Given the description of an element on the screen output the (x, y) to click on. 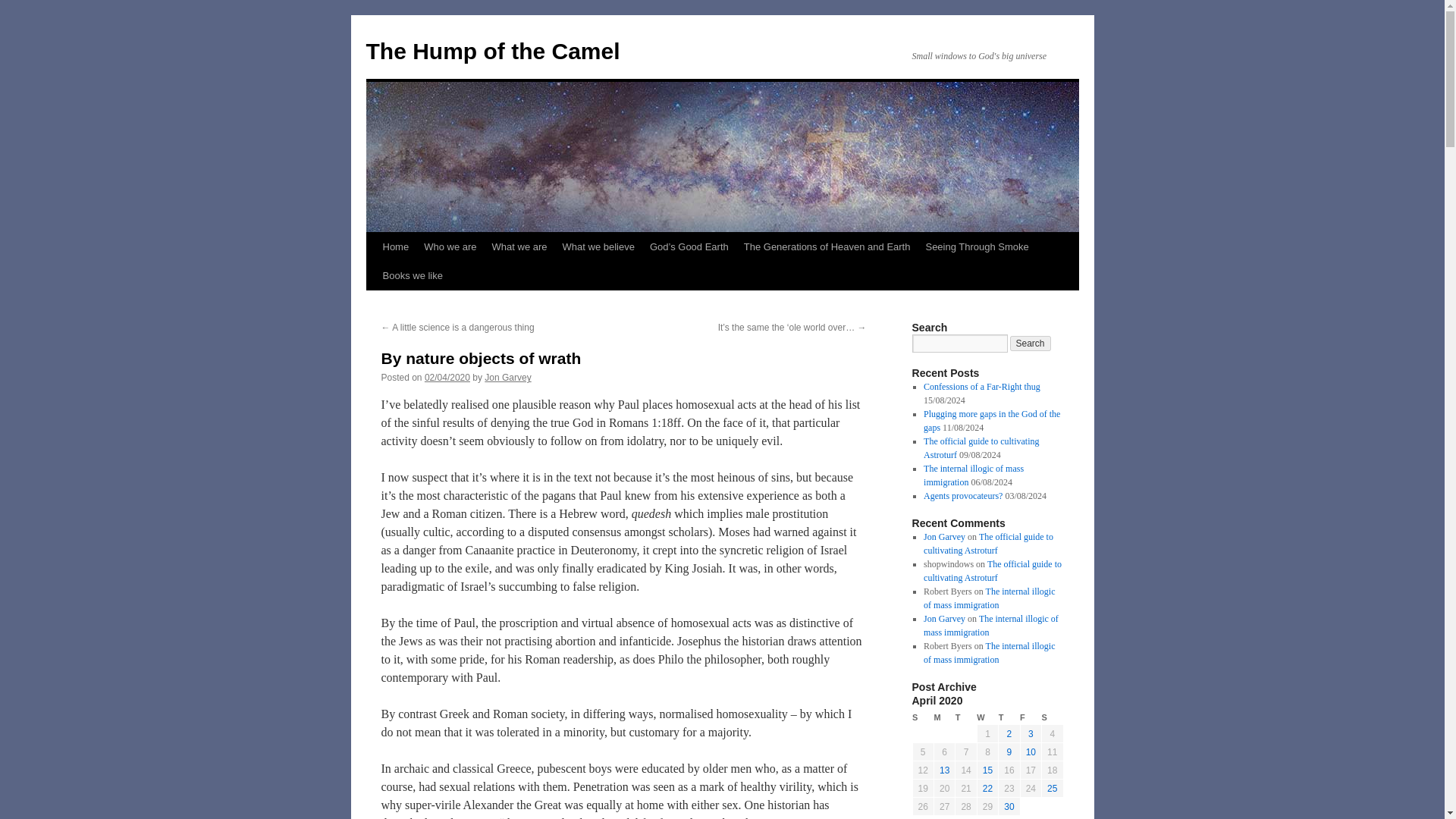
The official guide to cultivating Astroturf (981, 447)
Agents provocateurs? (963, 495)
What we believe (598, 246)
Home (395, 246)
View all posts by Jon Garvey (507, 377)
What we are (519, 246)
The Hump of the Camel (492, 50)
Thursday (1009, 717)
09:32 am (447, 377)
Friday (1030, 717)
